Given the description of an element on the screen output the (x, y) to click on. 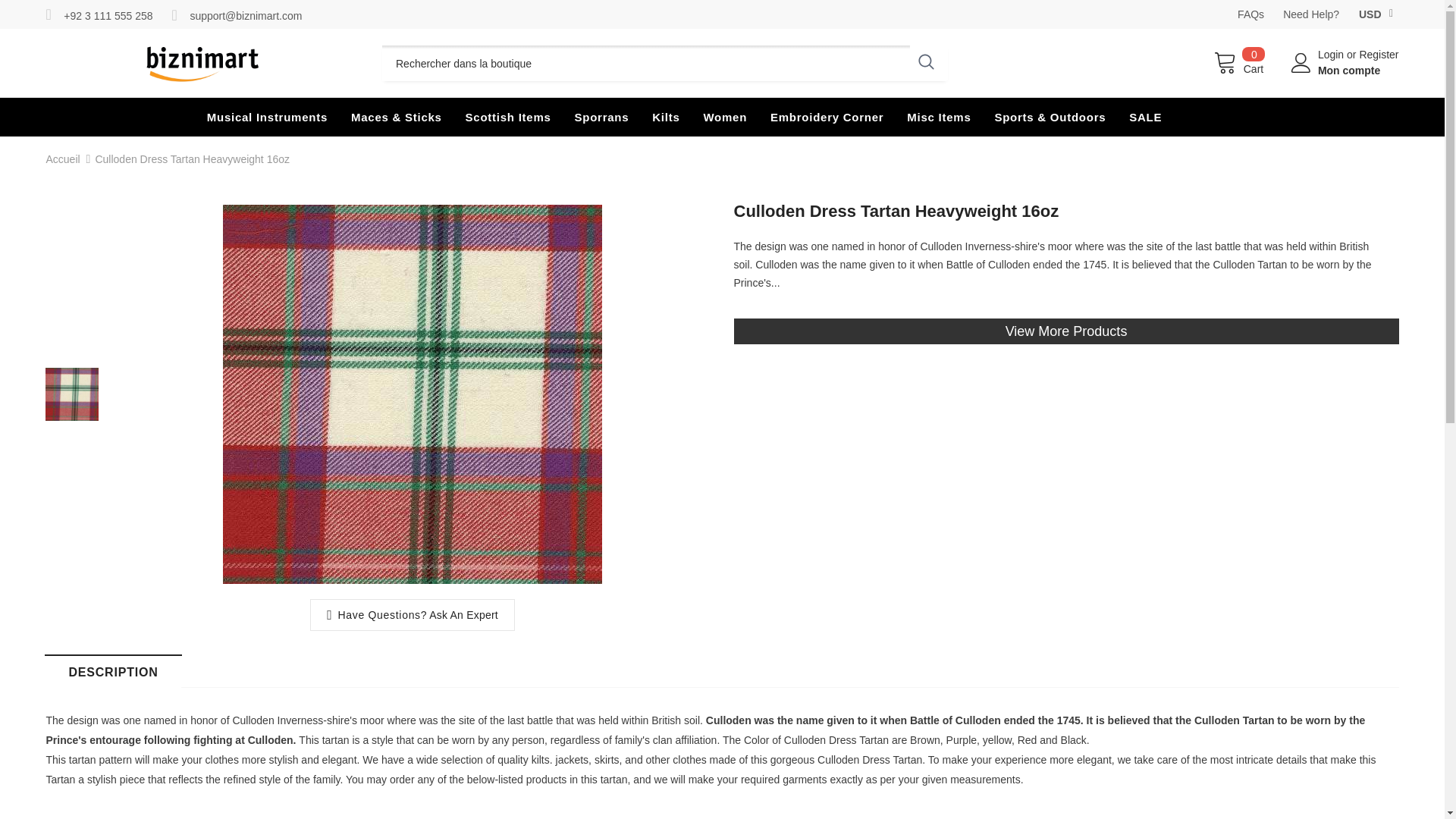
Logo (202, 62)
Need Help? (1310, 14)
FAQs (1250, 14)
